Given the description of an element on the screen output the (x, y) to click on. 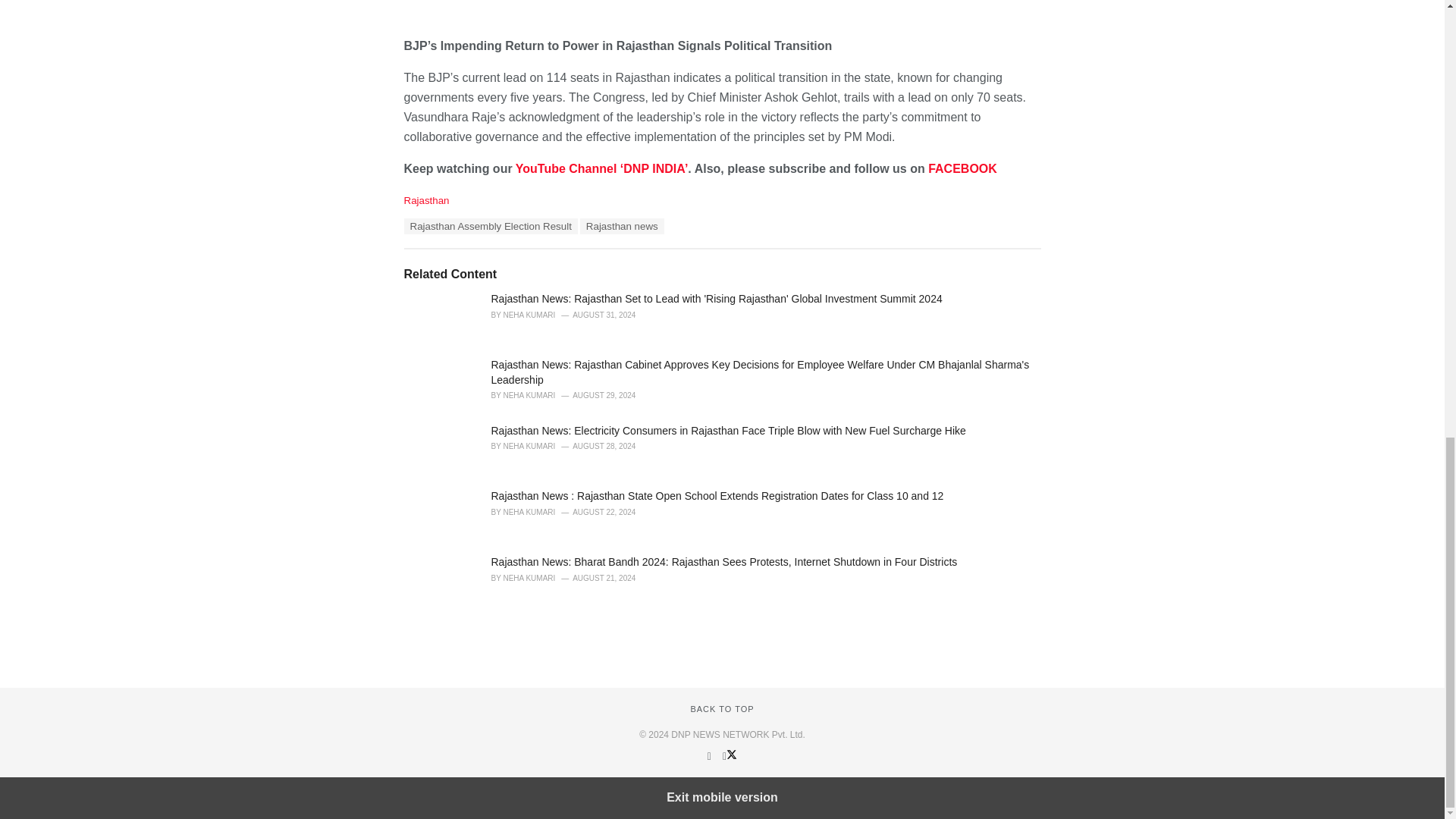
FACEBOOK (962, 168)
Rajasthan (425, 200)
Rajasthan Assembly Election Result (489, 226)
BACK TO TOP (722, 708)
Rajasthan news (621, 226)
